Given the description of an element on the screen output the (x, y) to click on. 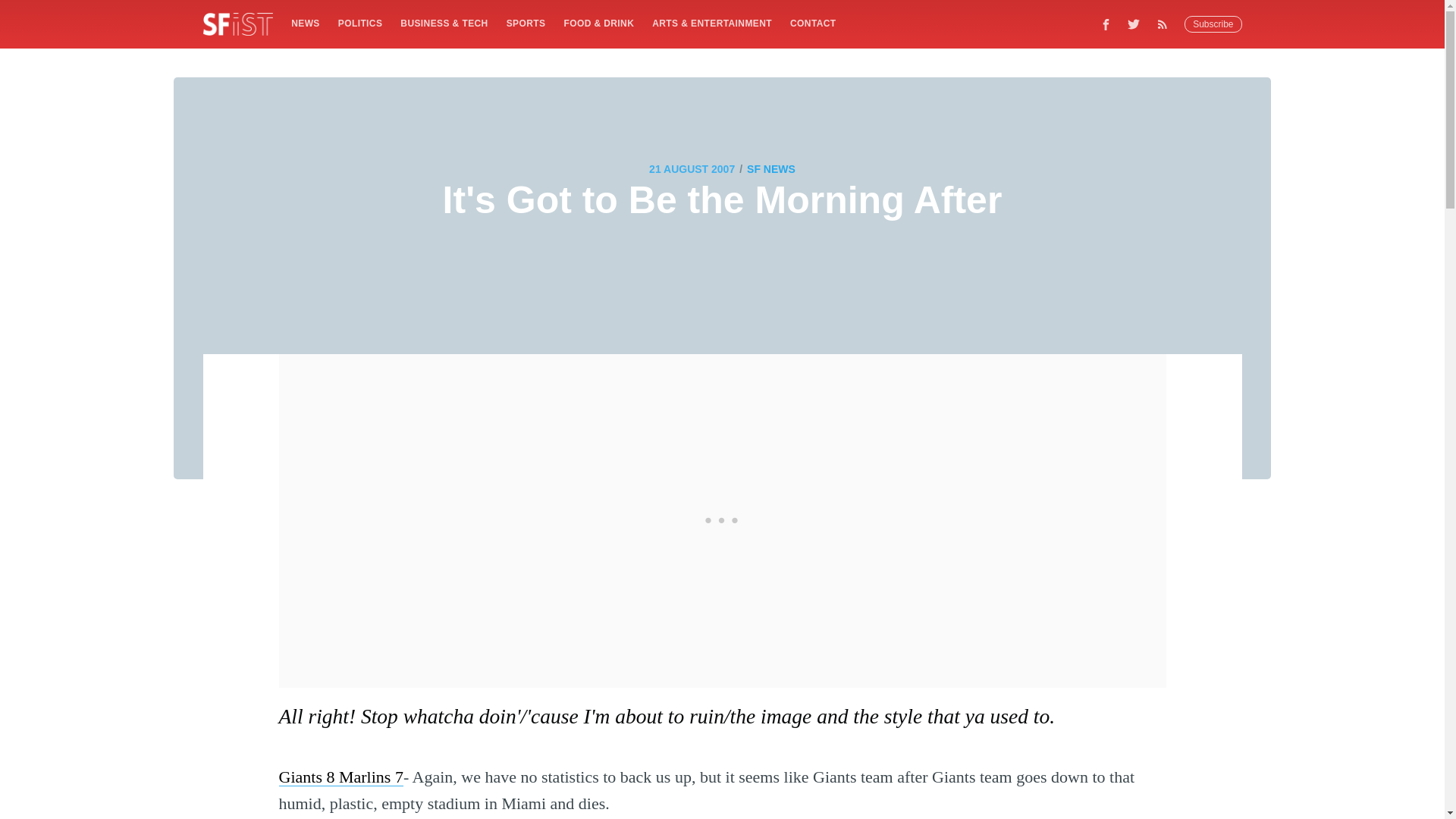
RSS (1166, 23)
SF NEWS (770, 168)
Twitter (1133, 23)
Subscribe (1213, 23)
NEWS (305, 23)
CONTACT (812, 23)
Facebook (1106, 23)
SPORTS (525, 23)
POLITICS (360, 23)
Giants 8 Marlins 7 (341, 776)
